Given the description of an element on the screen output the (x, y) to click on. 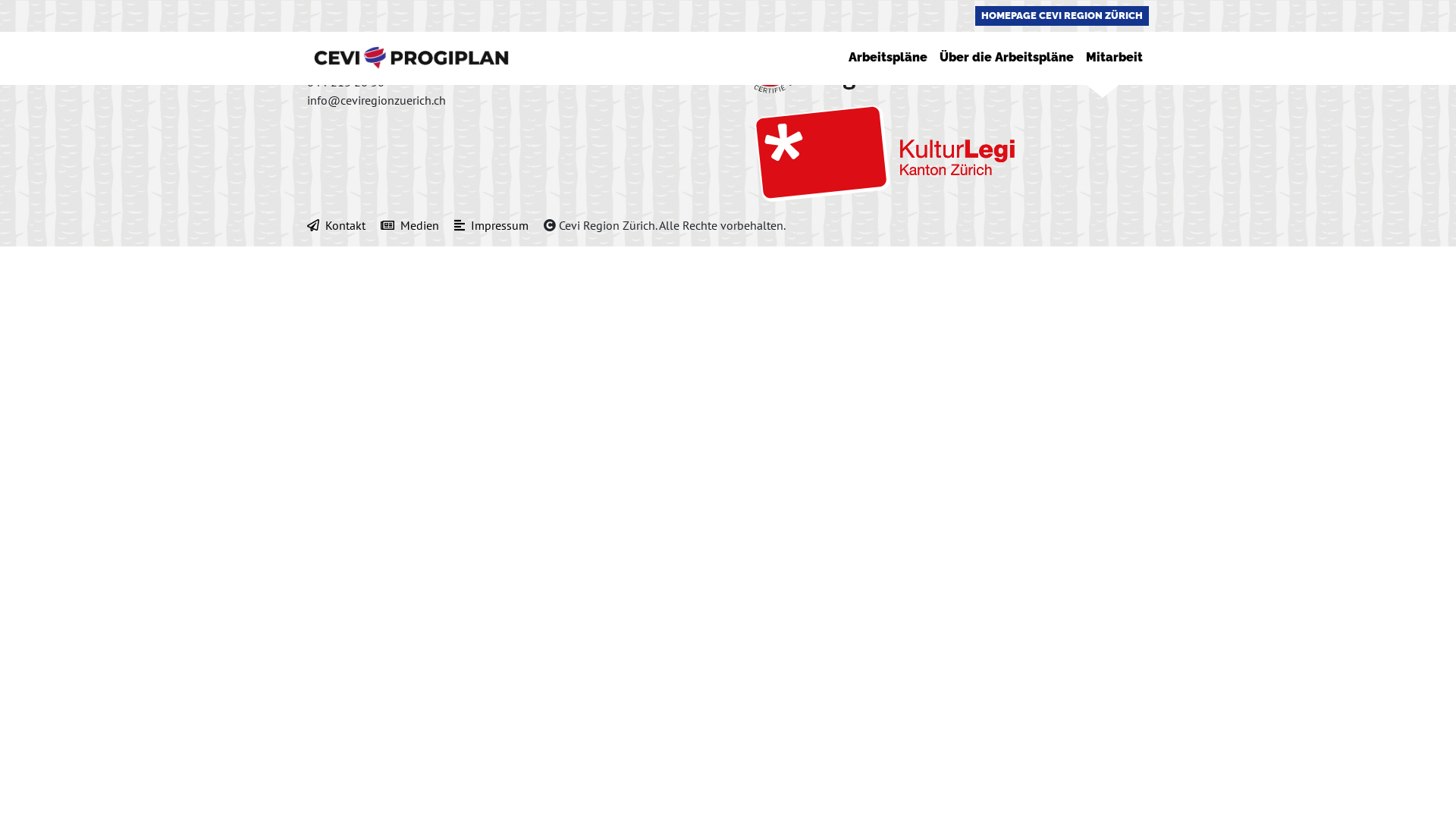
Impressum Element type: text (497, 224)
Kontakt Element type: text (342, 224)
Medien Element type: text (415, 224)
Mitarbeit Element type: text (1113, 57)
